Given the description of an element on the screen output the (x, y) to click on. 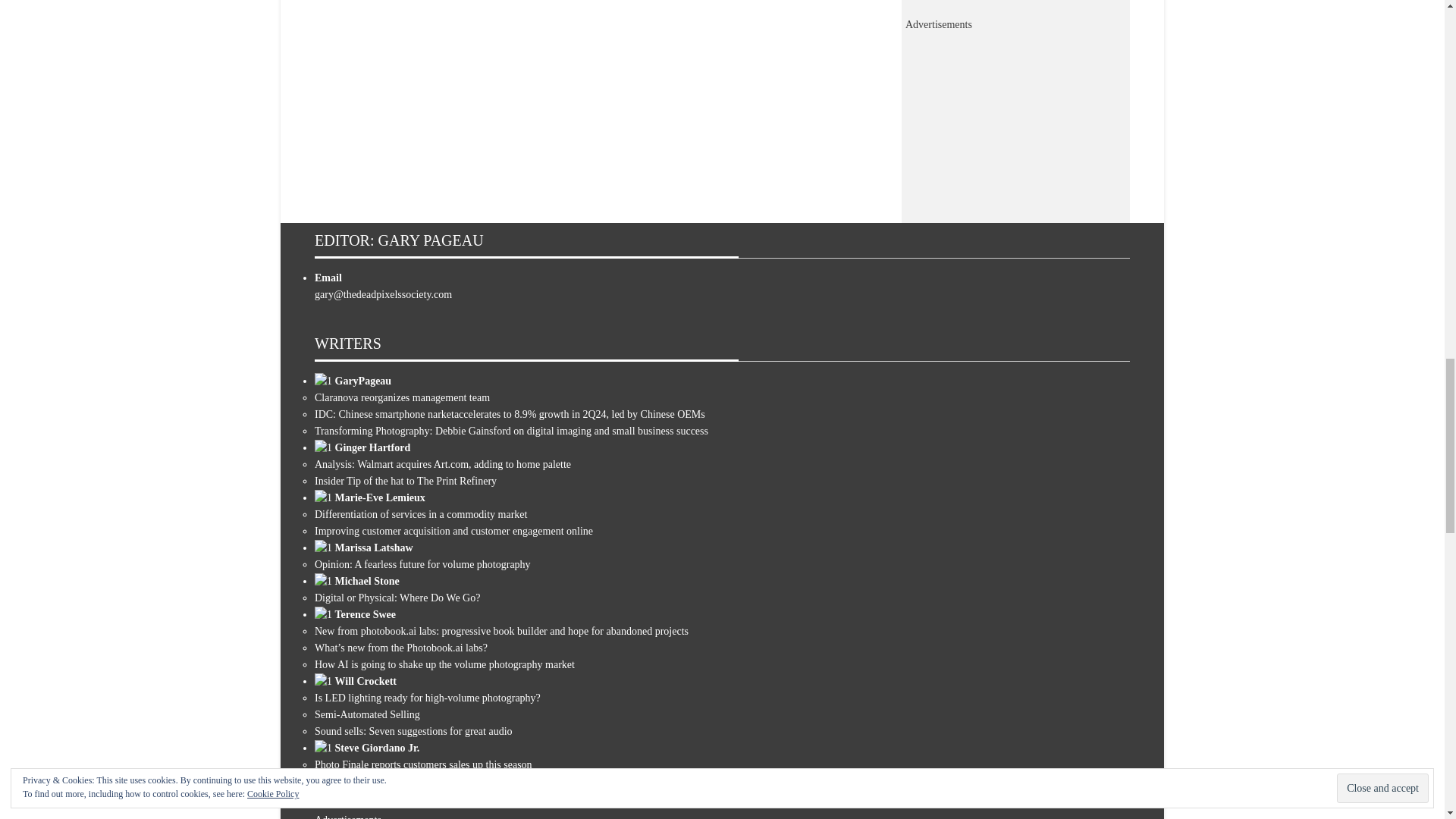
Differentiation of services in a commodity market (420, 514)
Analysis: Walmart acquires Art.com, adding to home palette (442, 464)
Insider Tip of the hat to The Print Refinery (405, 480)
Opinion: A fearless future for volume photography (422, 564)
Digital or Physical: Where Do We Go? (397, 597)
Claranova reorganizes management team (401, 397)
